Given the description of an element on the screen output the (x, y) to click on. 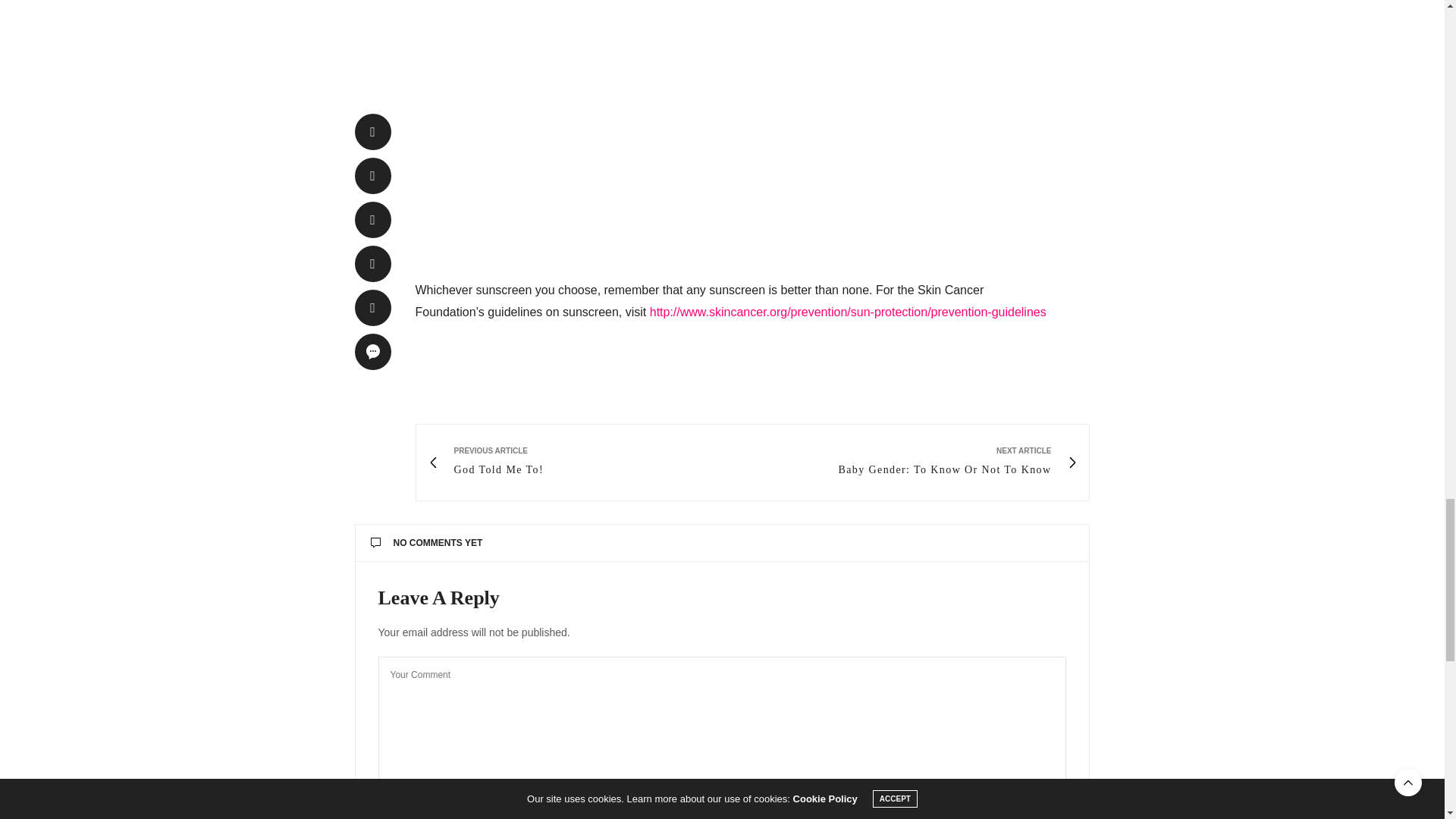
NO COMMENTS YET (722, 542)
